Given the description of an element on the screen output the (x, y) to click on. 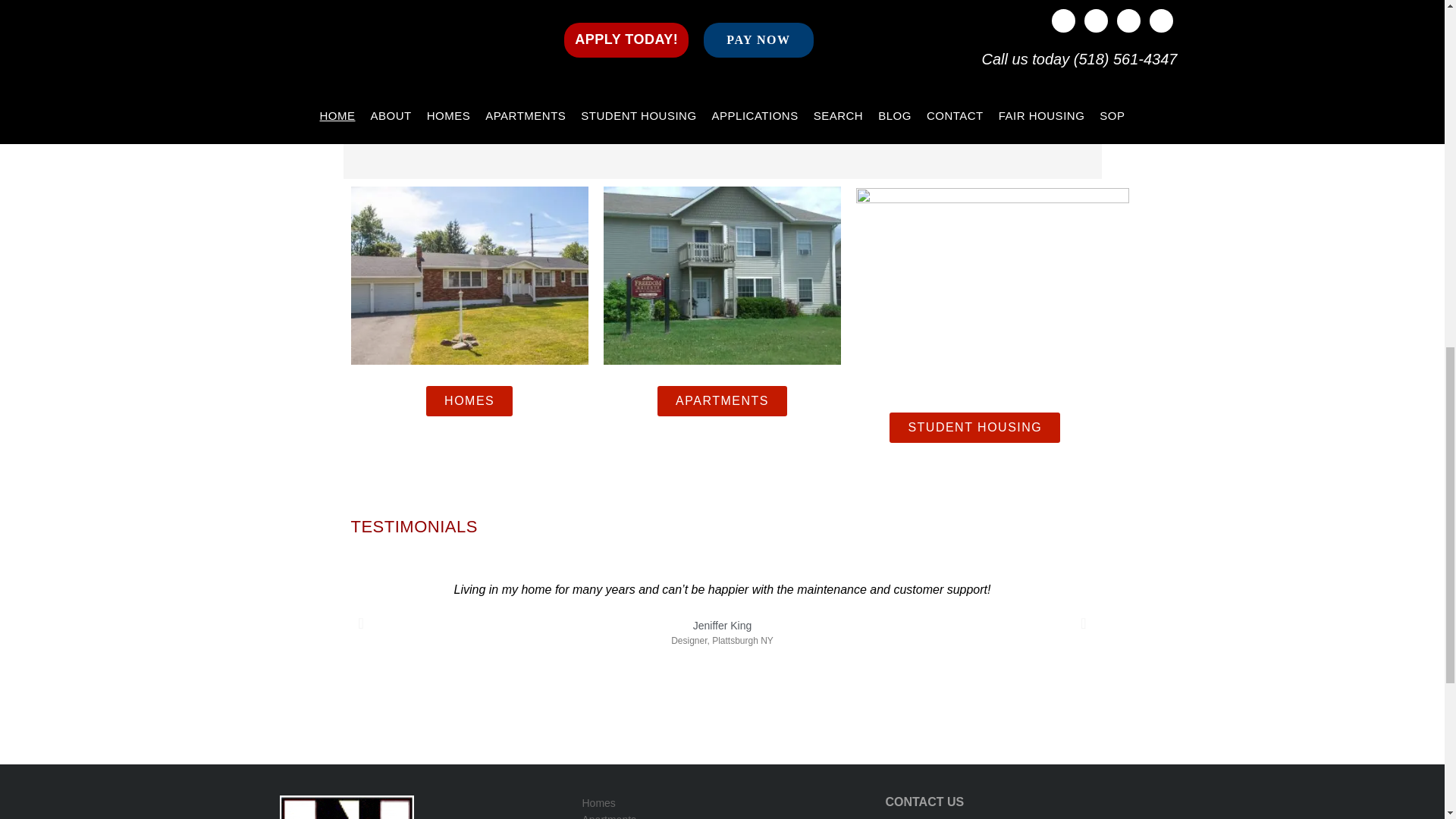
contact us. (871, 134)
APARTMENTS (722, 400)
Homes (719, 802)
Apartments (719, 815)
HOMES (469, 400)
STUDENT HOUSING (974, 427)
